Given the description of an element on the screen output the (x, y) to click on. 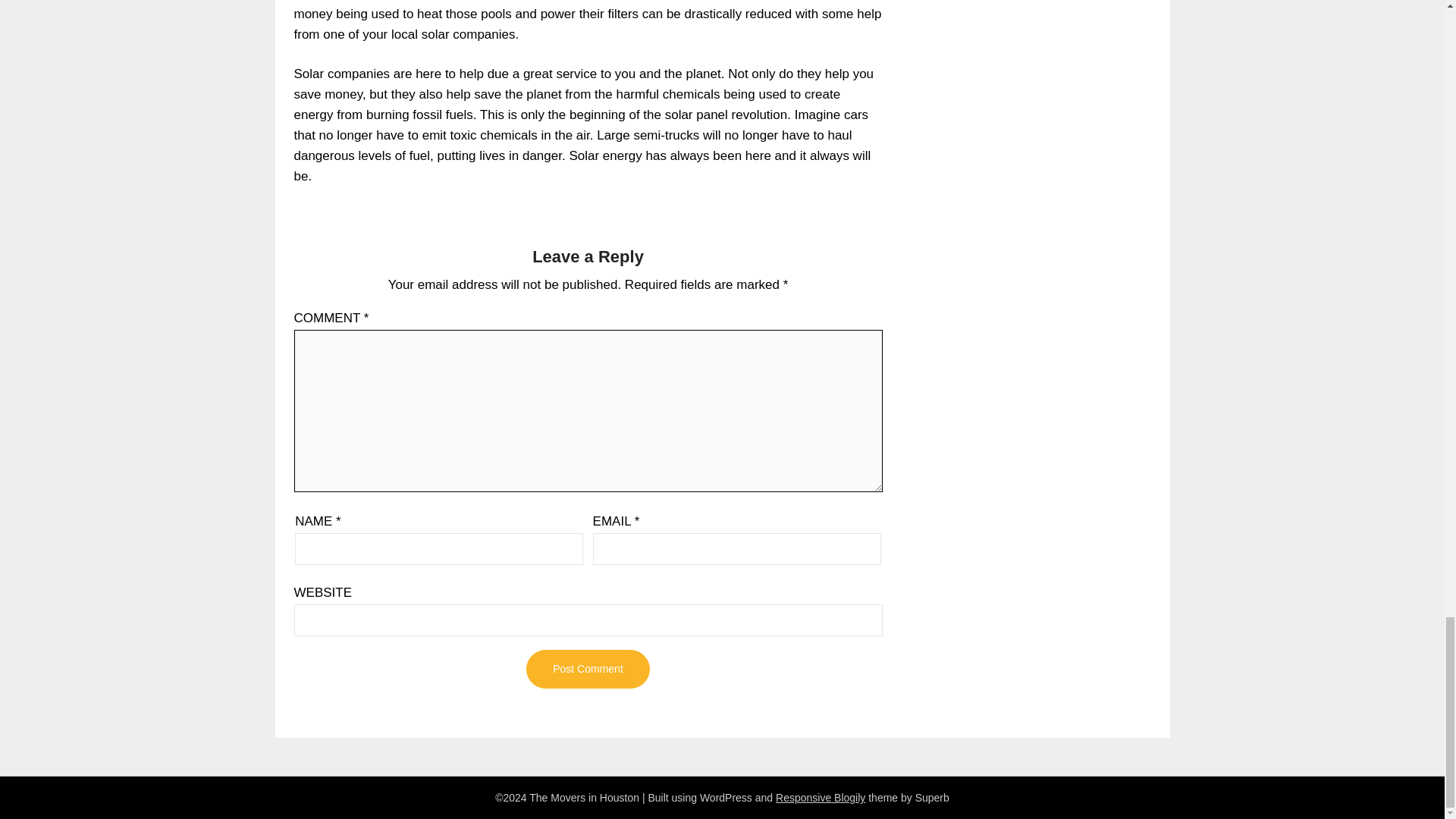
Post Comment (587, 669)
Responsive Blogily (820, 797)
Post Comment (587, 669)
